Given the description of an element on the screen output the (x, y) to click on. 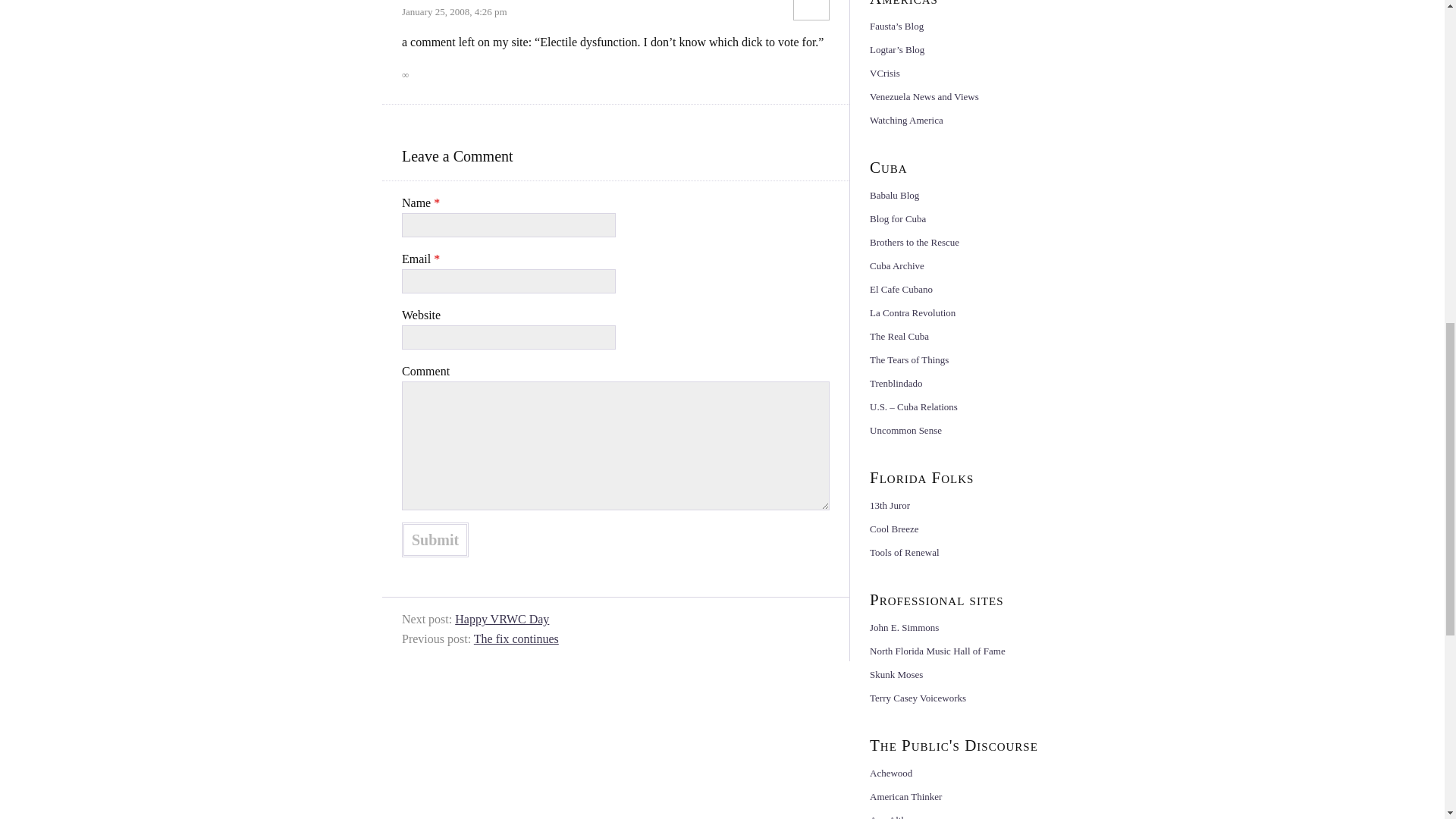
Venezuela News and Views (923, 96)
Watching America (906, 120)
Babalu Blog (893, 194)
Submit (434, 539)
VCrisis (884, 72)
Cuba Archive (896, 265)
El Cafe Cubano (901, 288)
Happy VRWC Day (501, 618)
The fix continues (516, 638)
Submit (434, 539)
